Given the description of an element on the screen output the (x, y) to click on. 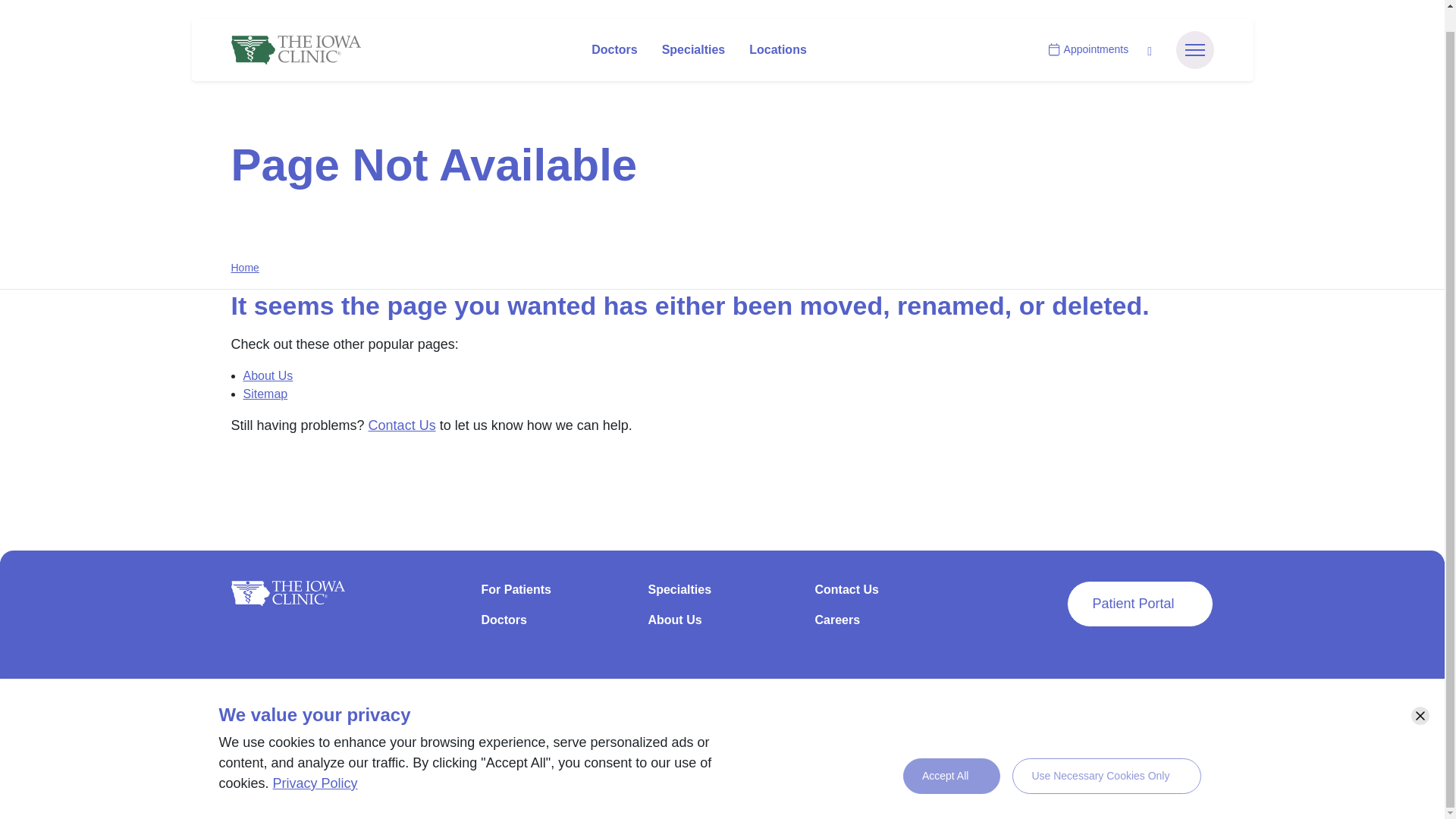
Careers (887, 625)
About Us (721, 625)
Patient Portal (1139, 603)
Contact Us (401, 424)
For Patients (554, 595)
Privacy Policy (651, 711)
Home (244, 266)
Sitemap (264, 392)
Specialties (721, 595)
Menu (1193, 28)
